Given the description of an element on the screen output the (x, y) to click on. 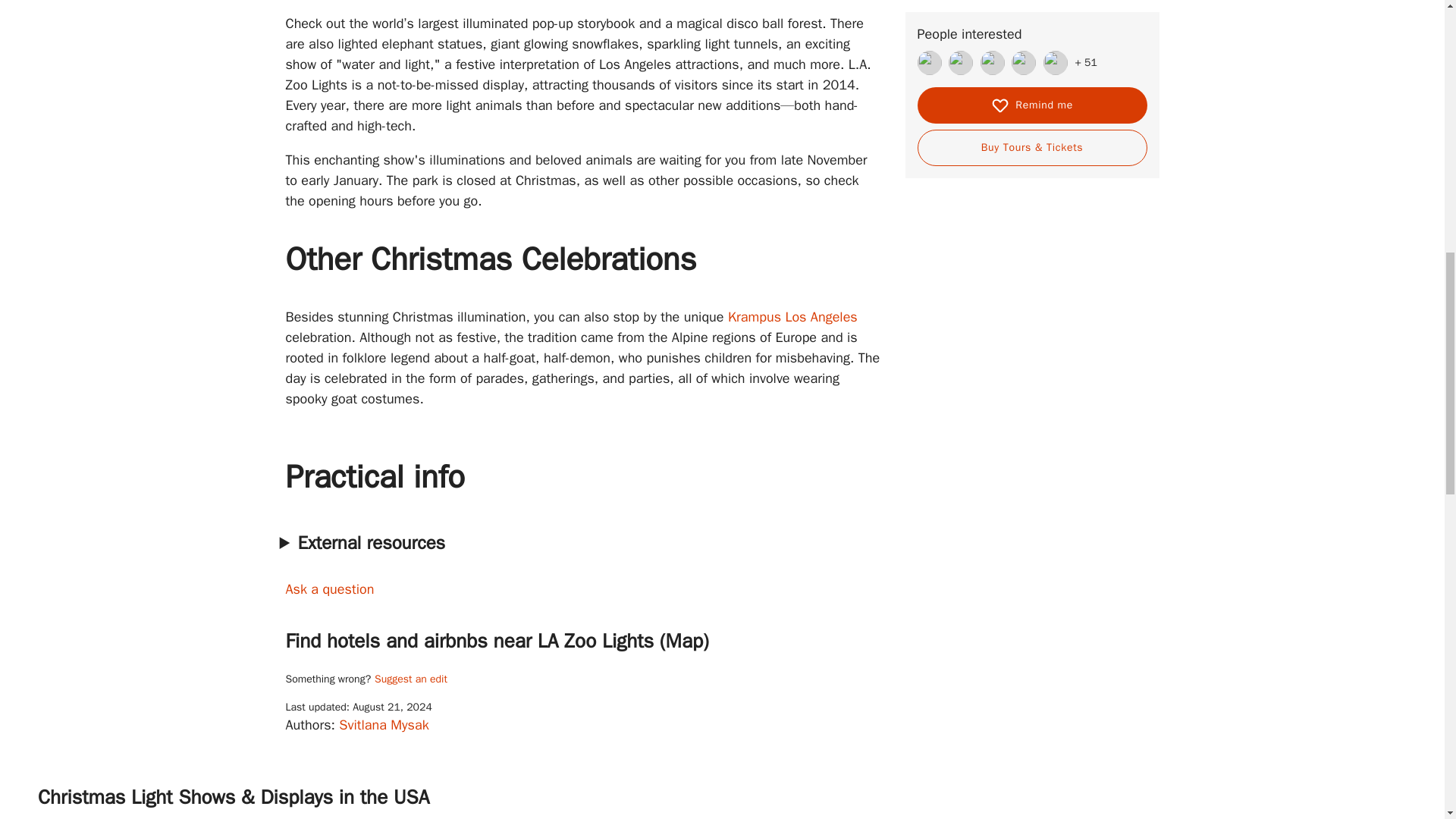
Krampus Los Angeles (792, 316)
Ask a question (329, 588)
Suggest an edit (410, 679)
Svitlana Mysak (383, 724)
